Given the description of an element on the screen output the (x, y) to click on. 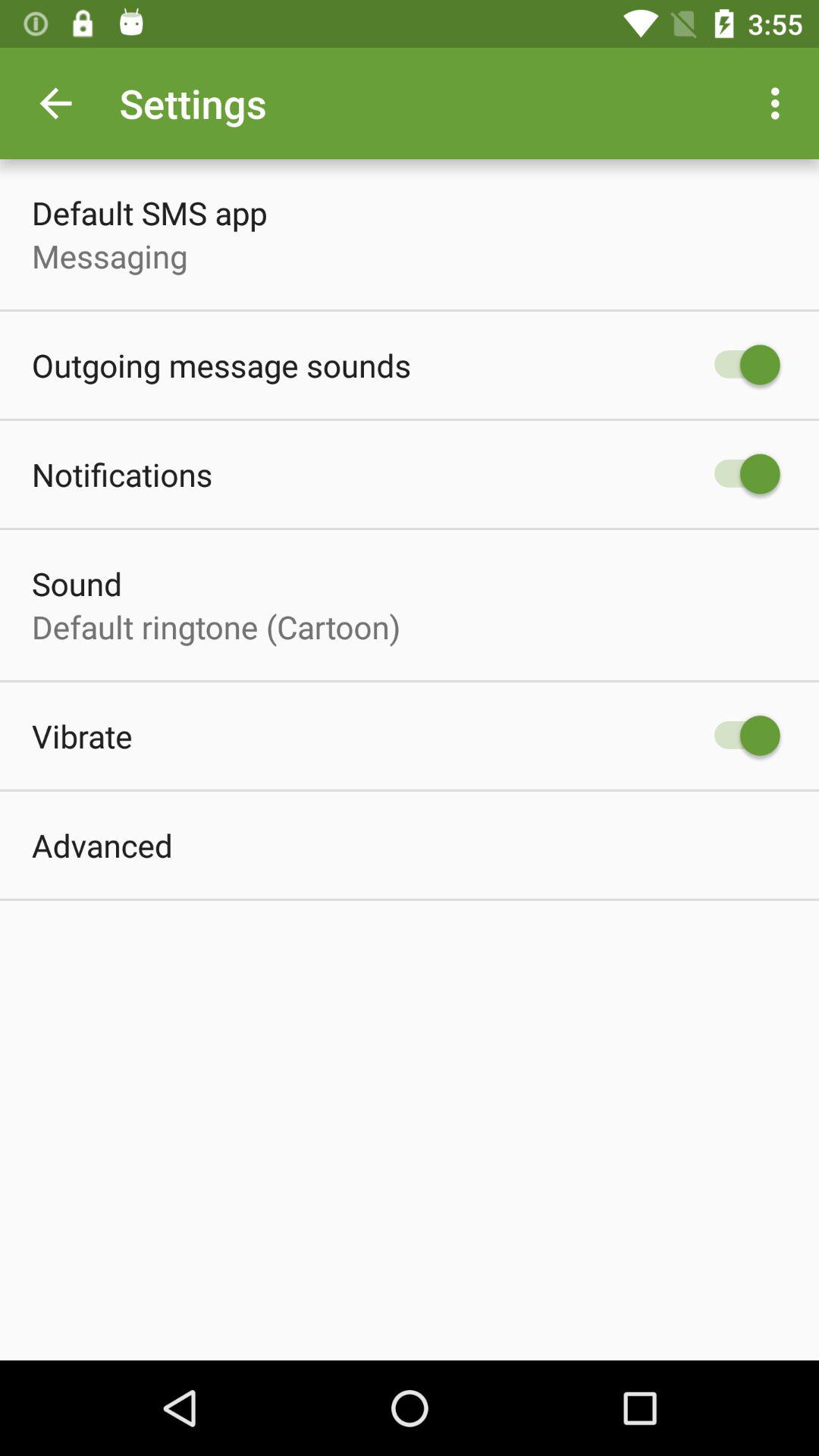
tap the icon next to settings (55, 103)
